Given the description of an element on the screen output the (x, y) to click on. 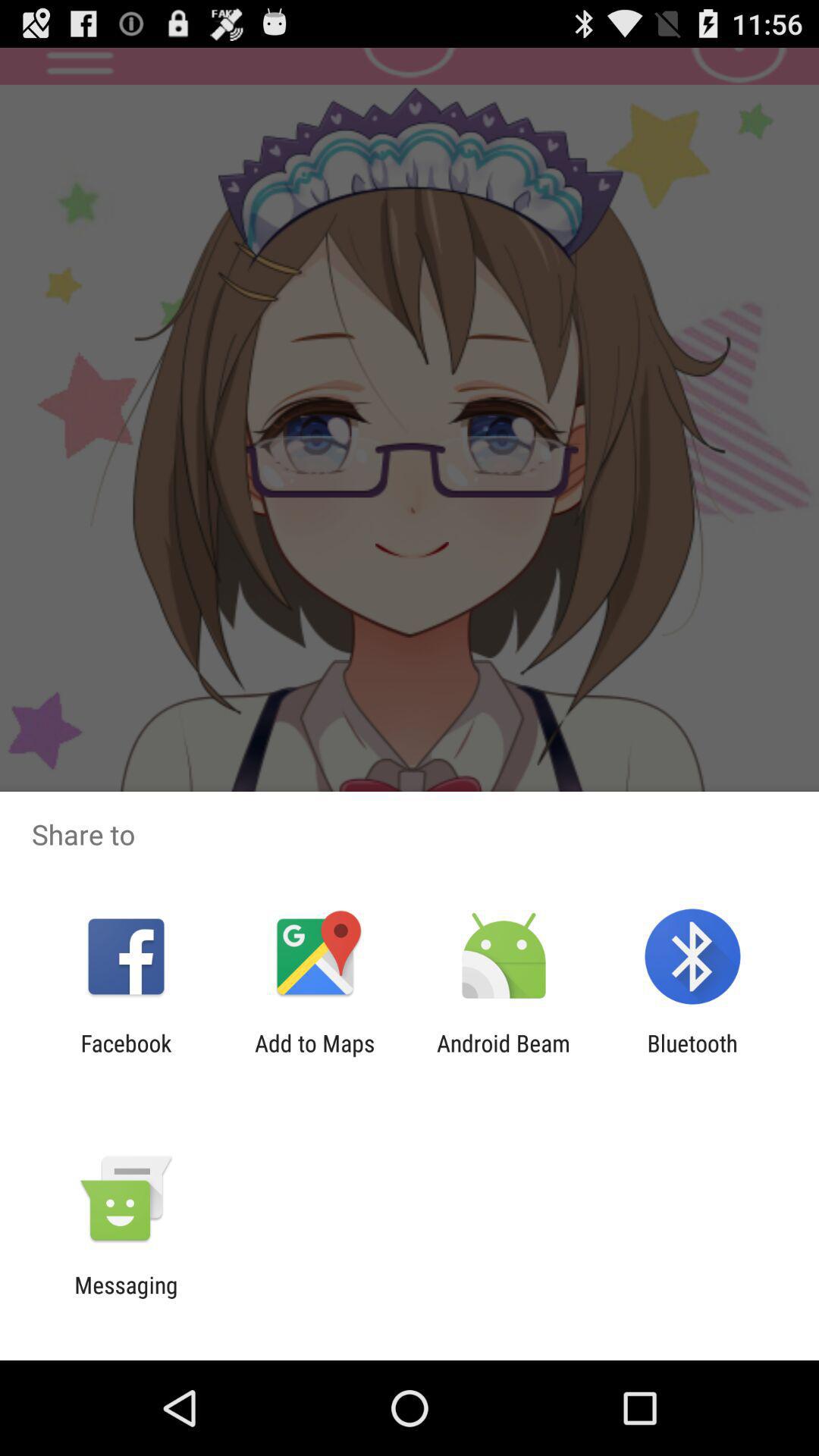
launch the item next to the bluetooth icon (503, 1056)
